Given the description of an element on the screen output the (x, y) to click on. 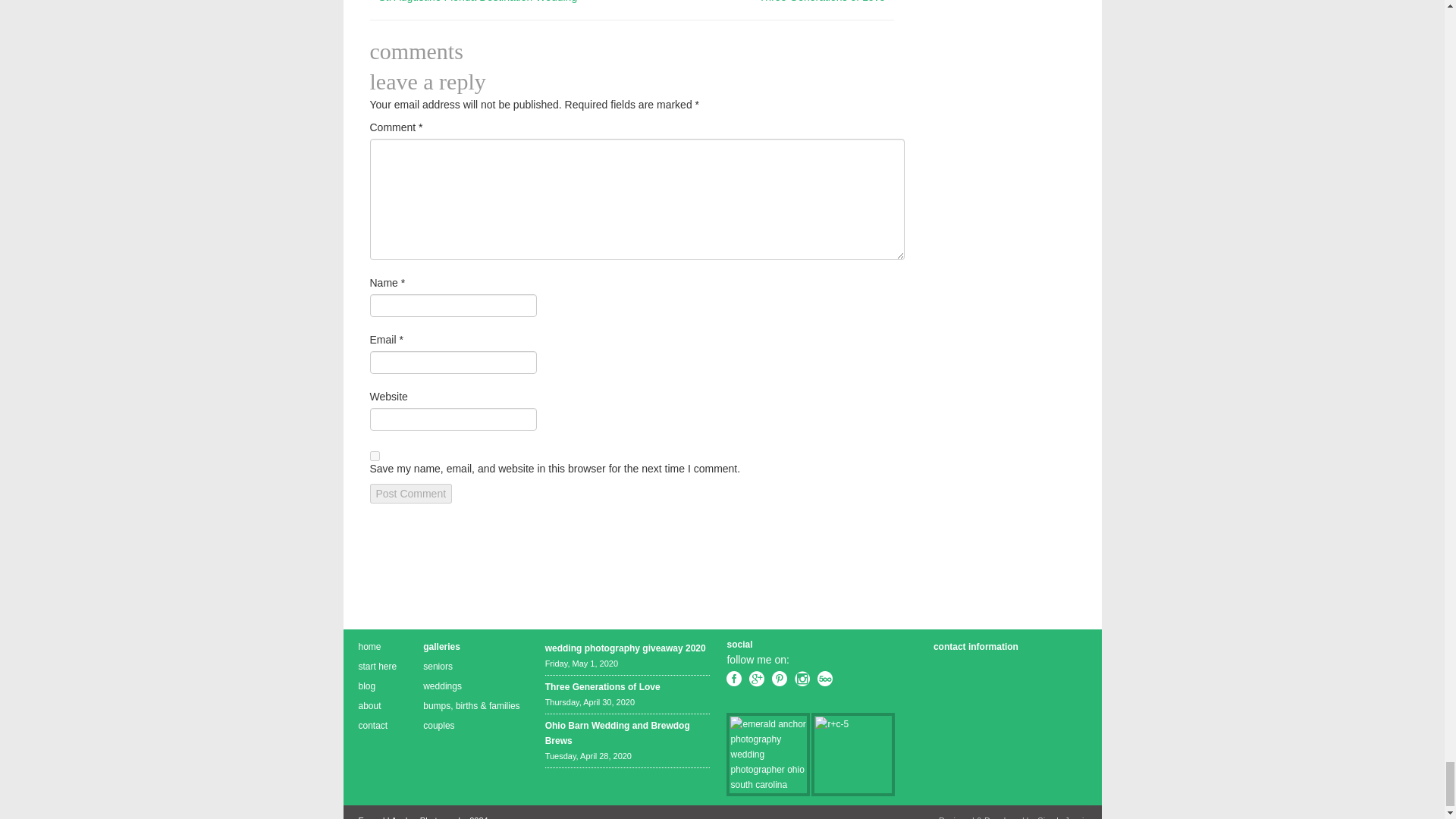
yes (374, 456)
Post Comment (410, 493)
